Given the description of an element on the screen output the (x, y) to click on. 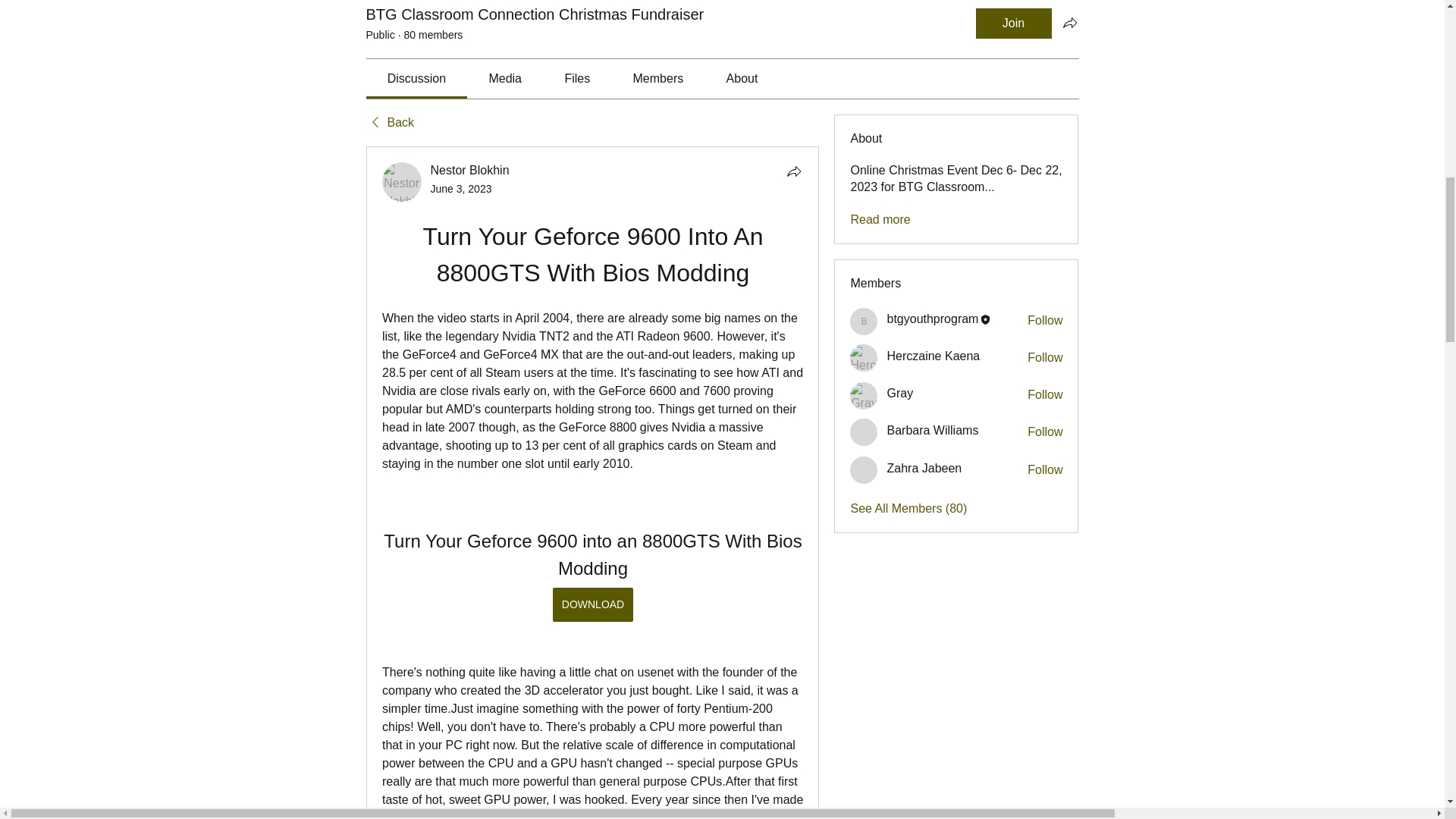
Follow (1044, 320)
Nestor Blokhin (401, 181)
Read more (880, 219)
Follow (1044, 432)
Zahra Jabeen (863, 470)
Follow (1044, 357)
DOWNLOAD (591, 604)
btgyouthprogram (932, 318)
June 3, 2023 (461, 188)
Follow (1044, 394)
Gray (863, 395)
Join (1013, 23)
Barbara Williams (863, 431)
Herczaine Kaena (863, 357)
Back (389, 122)
